Given the description of an element on the screen output the (x, y) to click on. 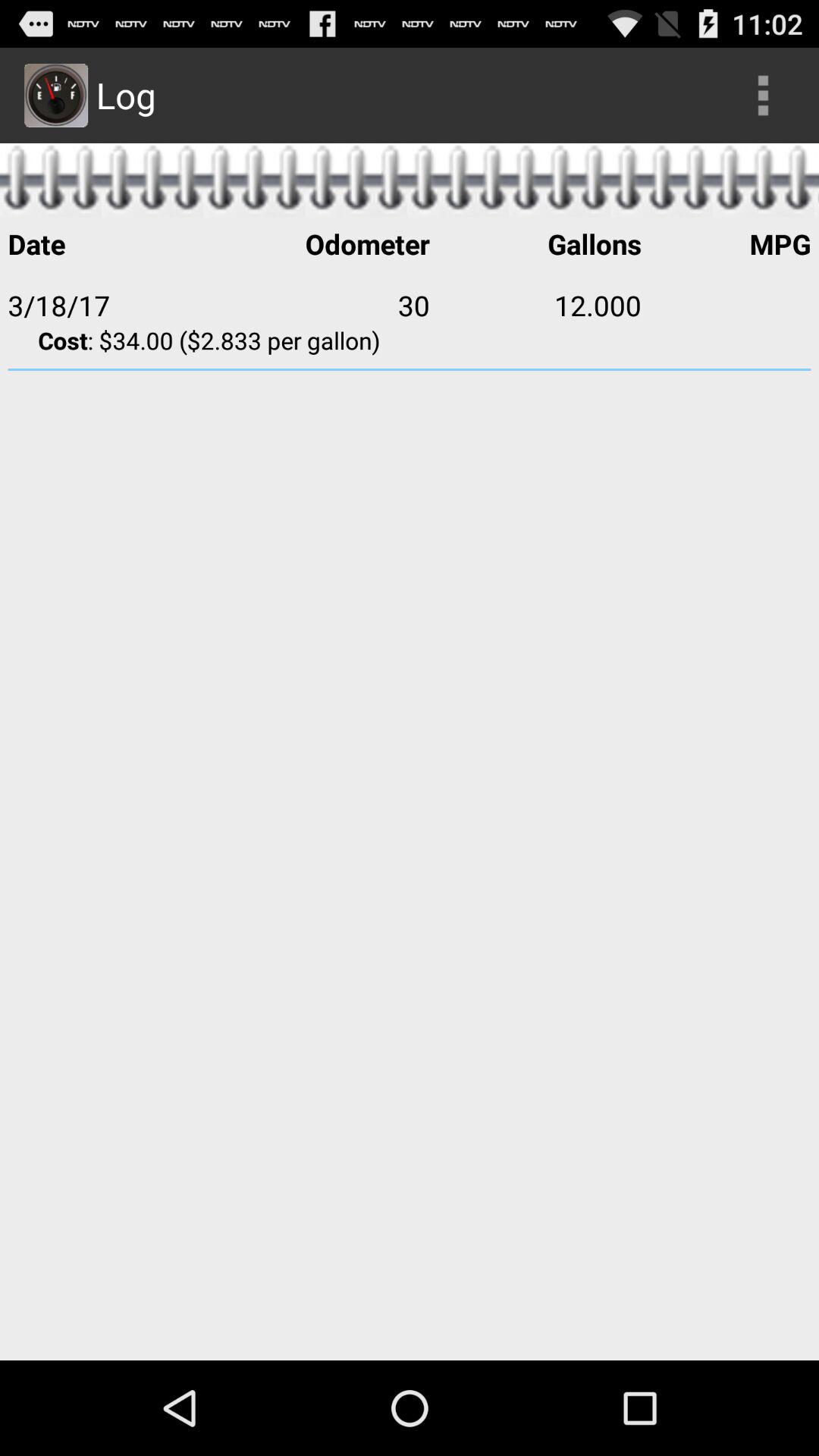
turn off the app to the right of the 3/18/17 item (323, 305)
